Given the description of an element on the screen output the (x, y) to click on. 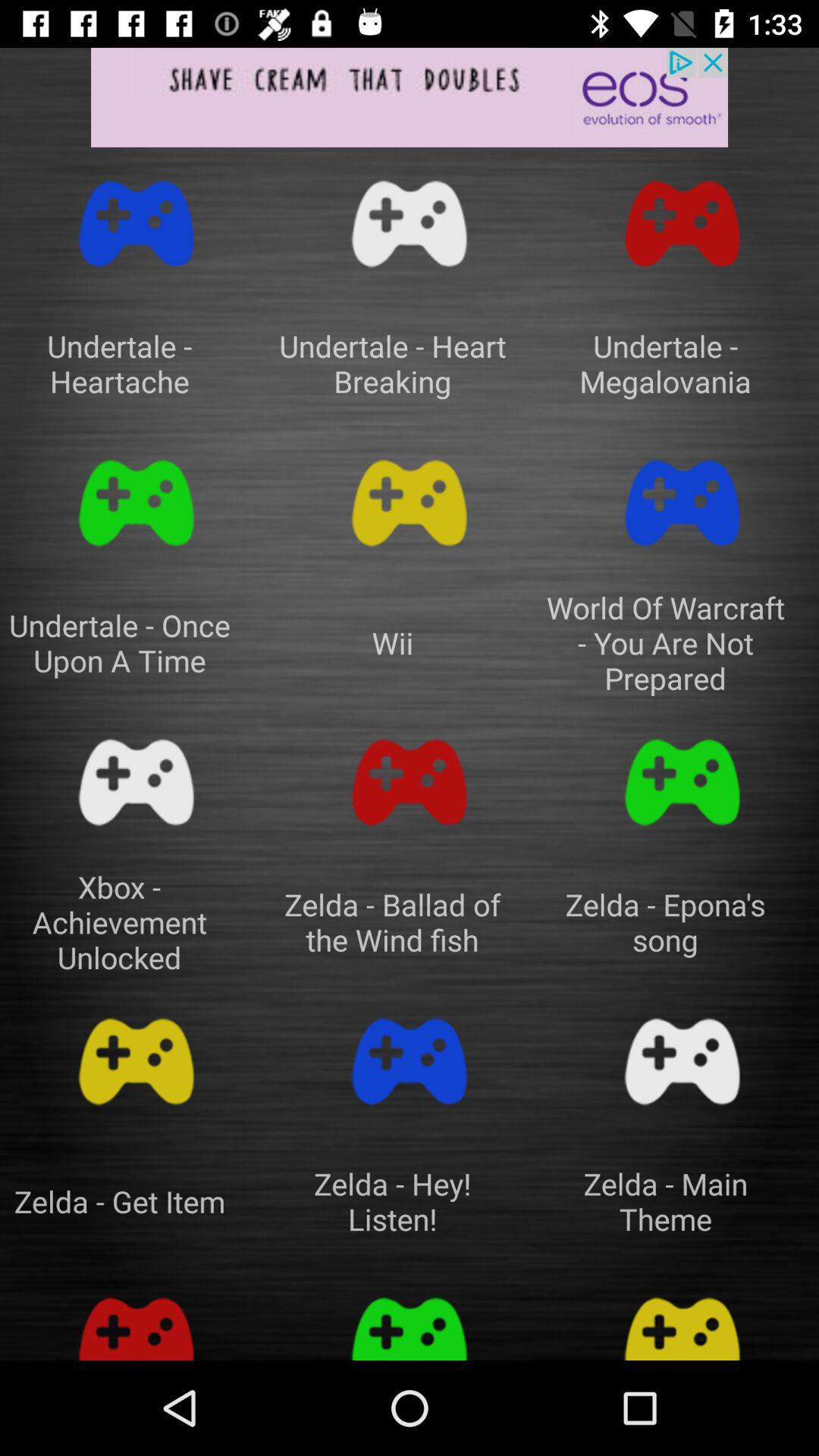
play game (682, 503)
